Given the description of an element on the screen output the (x, y) to click on. 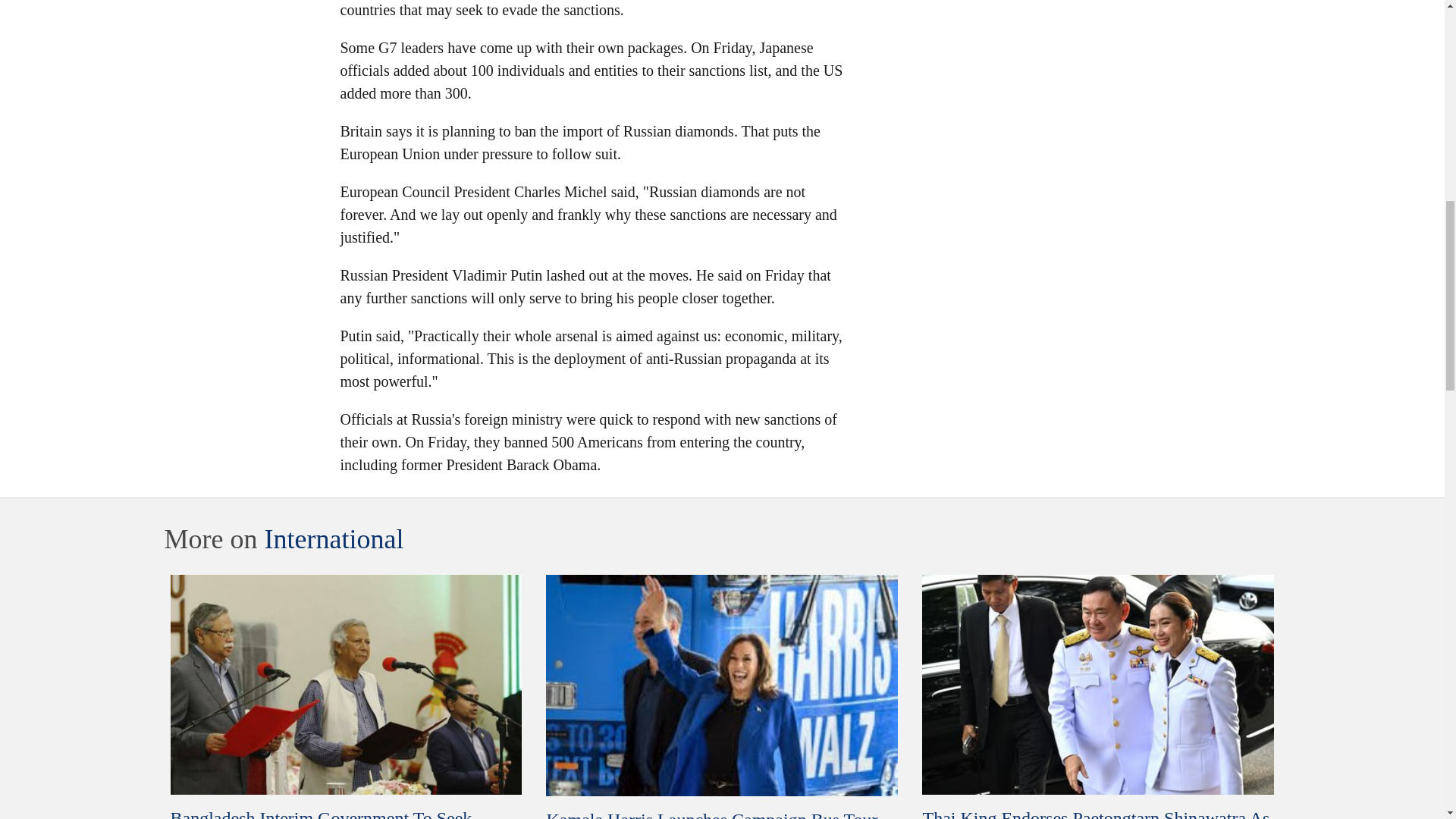
Thai King Endorses Paetongtarn Shinawatra As prime Minister (1095, 813)
Kamala Harris Launches Campaign Bus Tour Across Pennsylvania (711, 814)
International (333, 539)
